Given the description of an element on the screen output the (x, y) to click on. 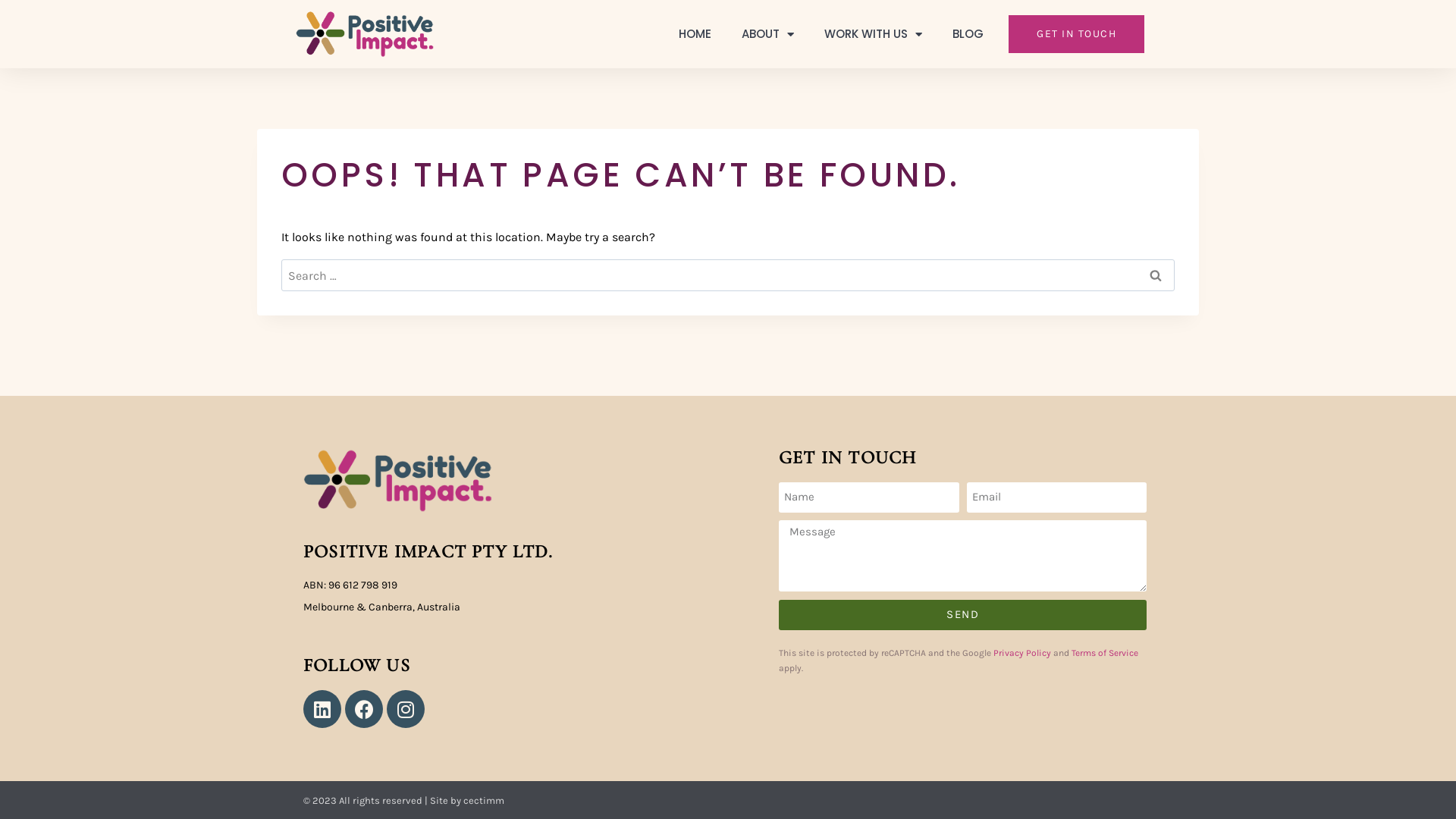
GET IN TOUCH Element type: text (1076, 34)
HOME Element type: text (694, 34)
Privacy Policy Element type: text (1022, 652)
Terms of Service Element type: text (1104, 652)
Search Element type: text (1155, 275)
SEND Element type: text (962, 614)
BLOG Element type: text (967, 34)
ABOUT Element type: text (767, 34)
WORK WITH US Element type: text (873, 34)
